Given the description of an element on the screen output the (x, y) to click on. 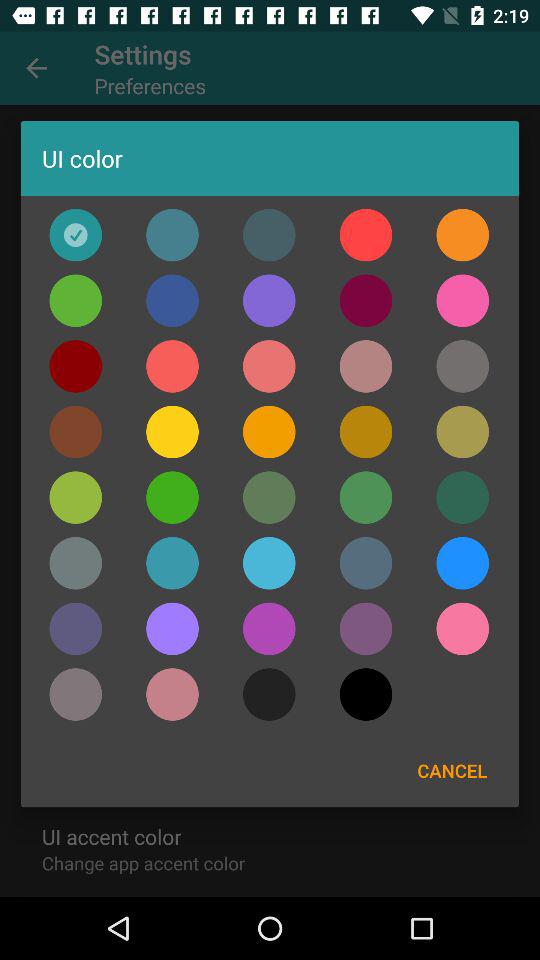
choose the colour (172, 628)
